Given the description of an element on the screen output the (x, y) to click on. 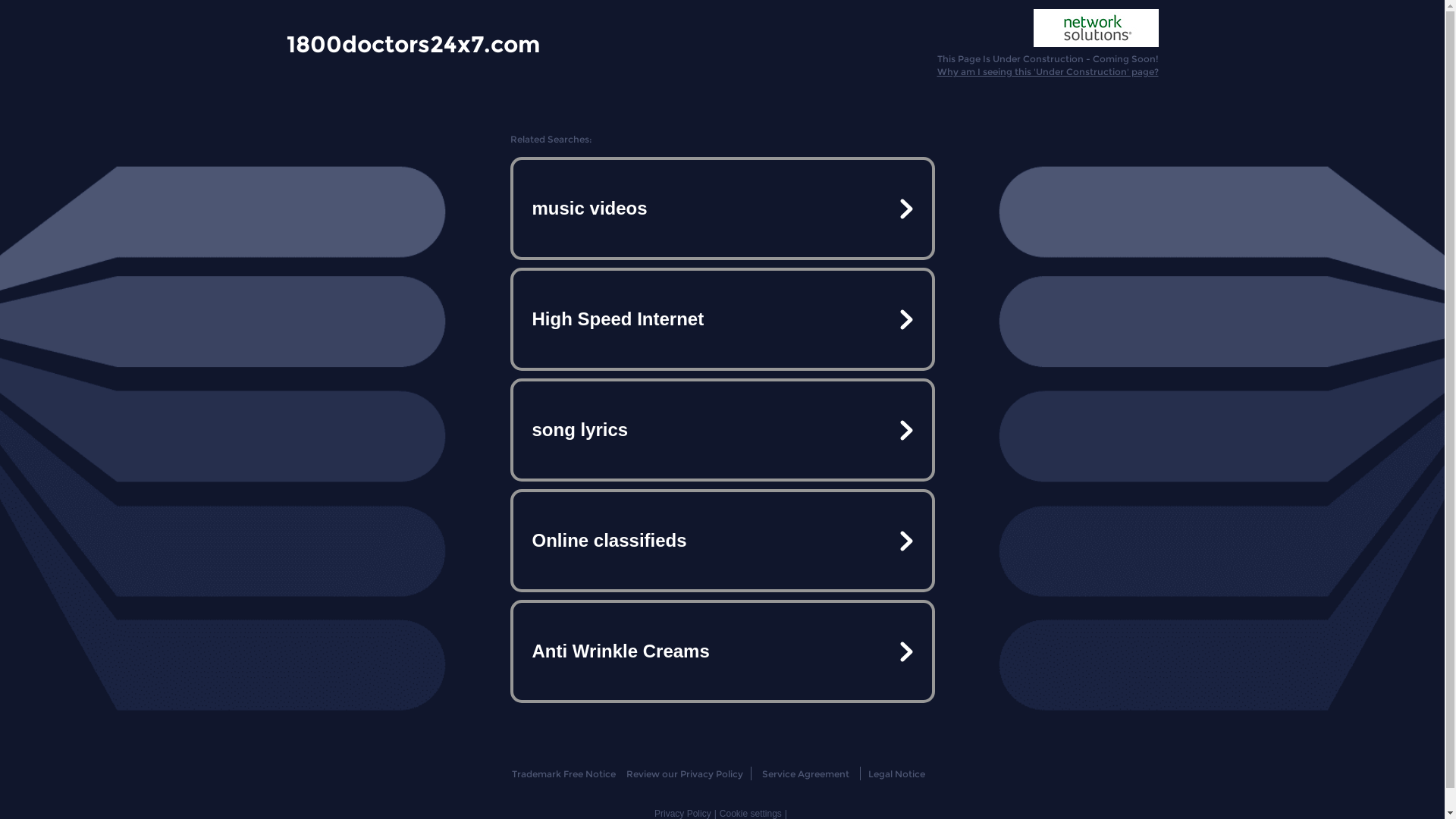
Why am I seeing this 'Under Construction' page? Element type: text (1047, 71)
song lyrics Element type: text (721, 429)
Online classifieds Element type: text (721, 540)
Legal Notice Element type: text (896, 773)
Service Agreement Element type: text (805, 773)
Trademark Free Notice Element type: text (563, 773)
music videos Element type: text (721, 208)
1800doctors24x7.com Element type: text (412, 43)
High Speed Internet Element type: text (721, 318)
Anti Wrinkle Creams Element type: text (721, 650)
Review our Privacy Policy Element type: text (684, 773)
